Given the description of an element on the screen output the (x, y) to click on. 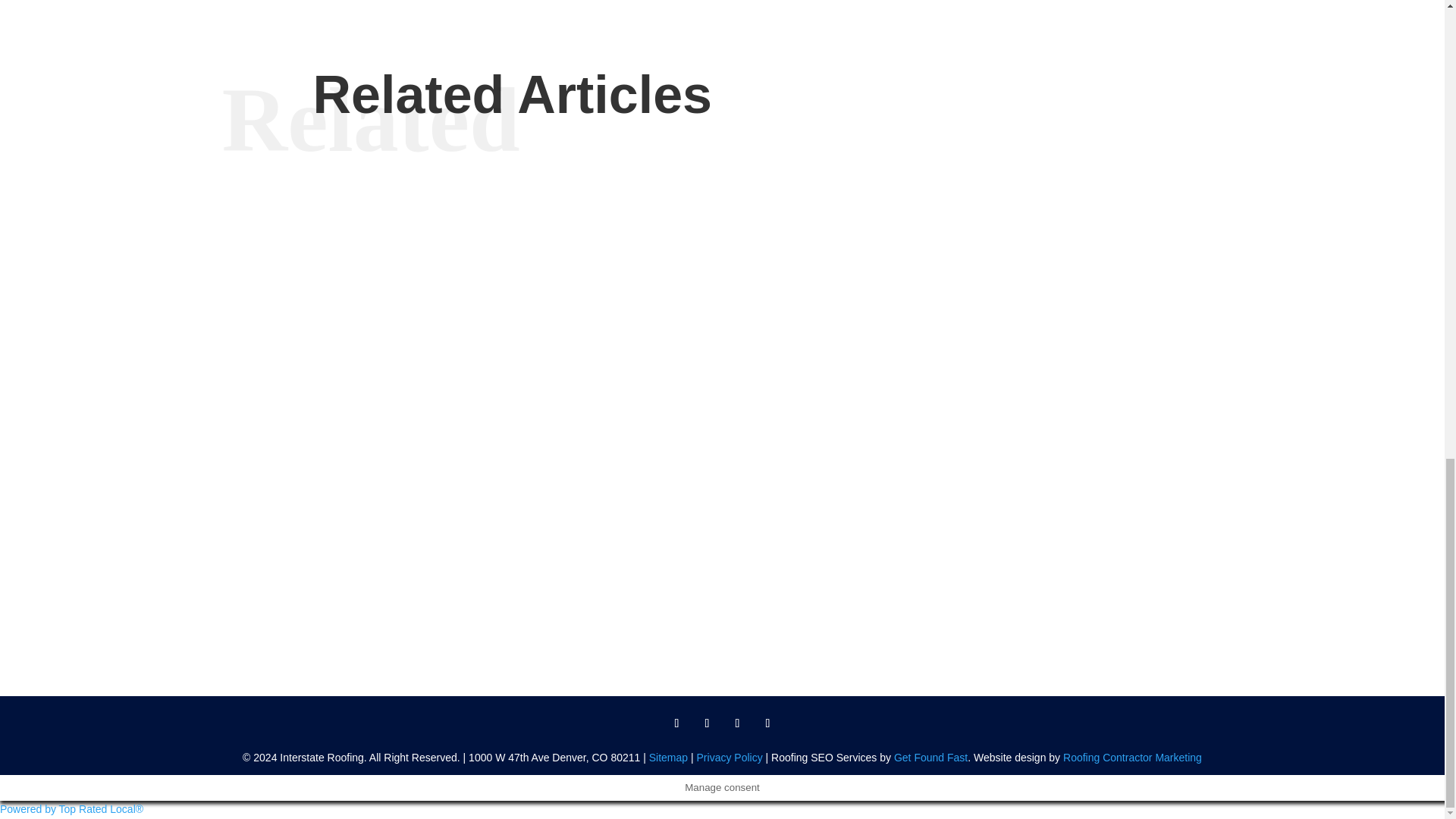
Follow on Facebook (675, 723)
Follow on Google (737, 723)
Follow on Instagram (766, 723)
Follow on X (706, 723)
